Given the description of an element on the screen output the (x, y) to click on. 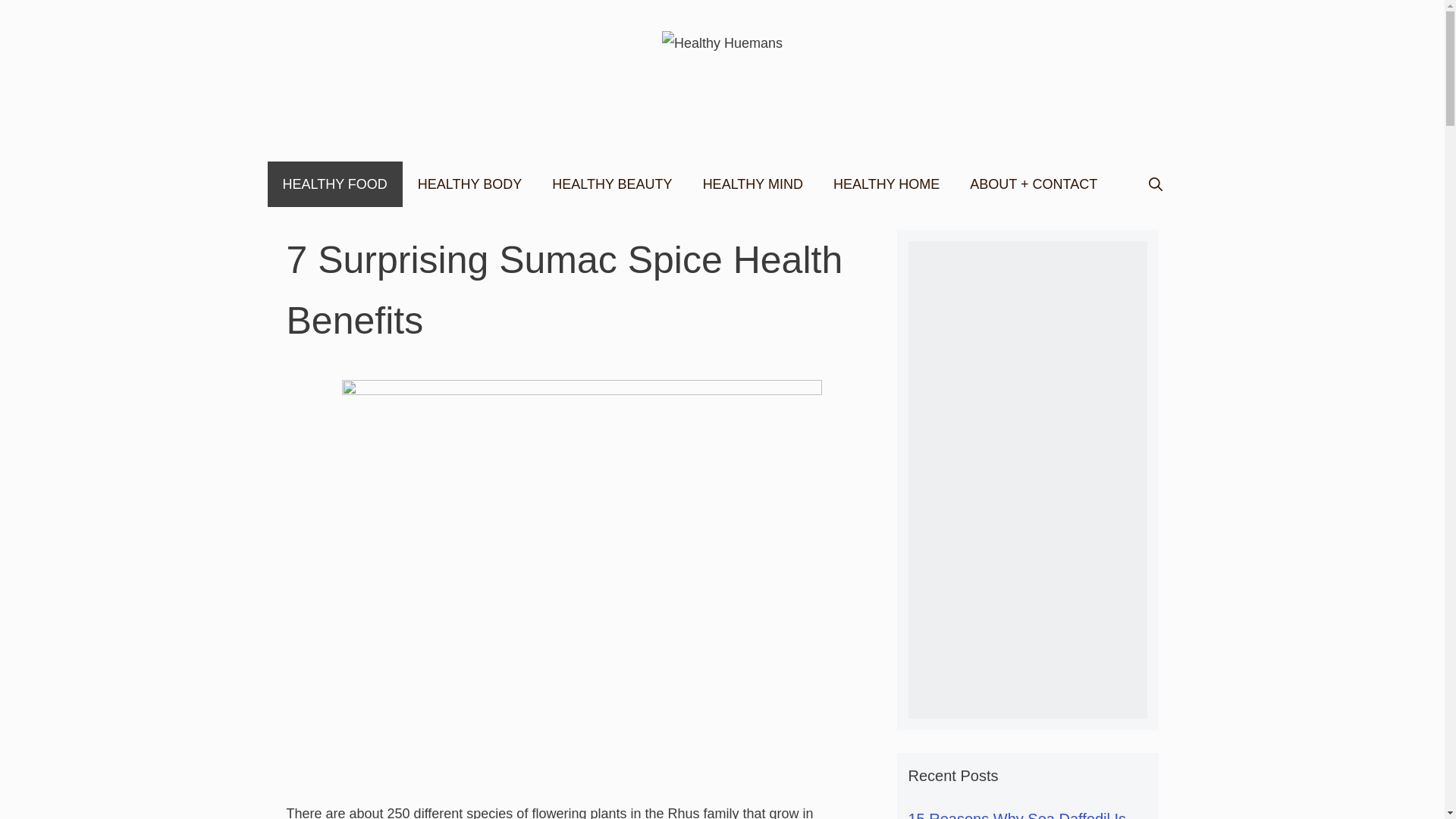
HEALTHY HOME (886, 184)
Healthy Huemans (722, 43)
Healthy Huemans (722, 42)
HEALTHY BODY (470, 184)
HEALTHY BEAUTY (612, 184)
HEALTHY FOOD (333, 184)
HEALTHY MIND (752, 184)
